Given the description of an element on the screen output the (x, y) to click on. 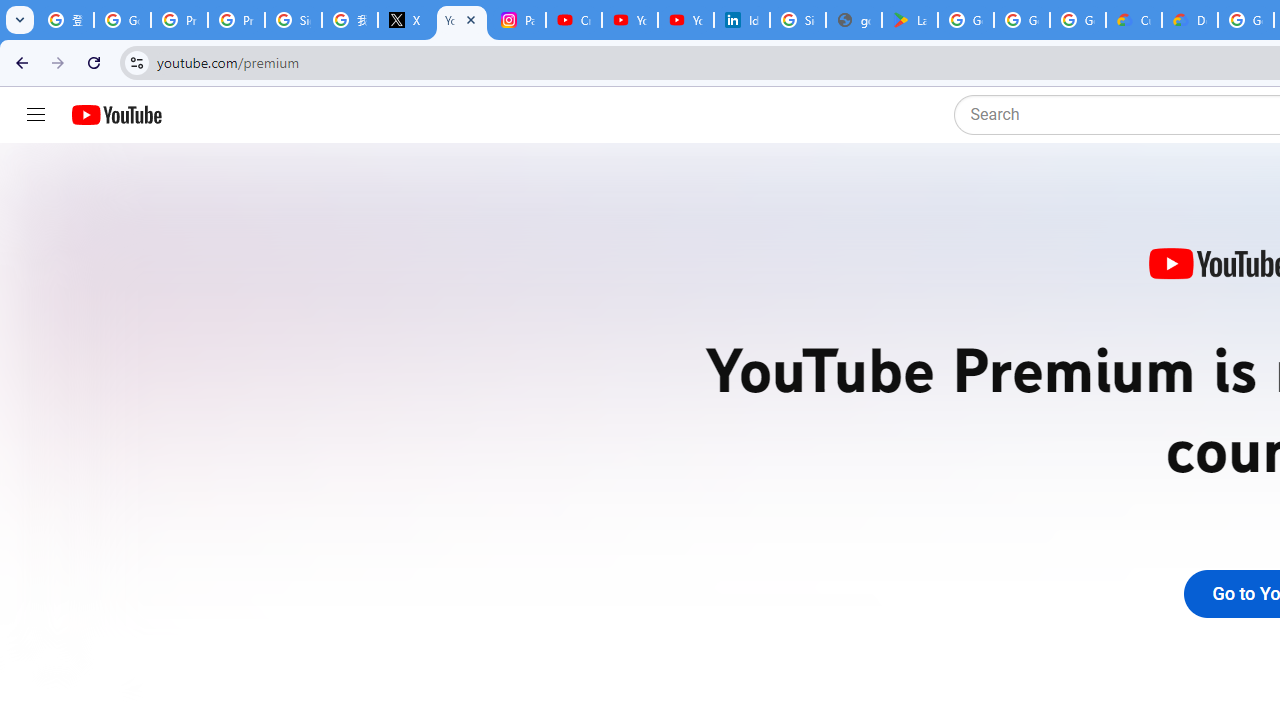
X (405, 20)
YouTube Home (116, 115)
Customer Care | Google Cloud (1133, 20)
YouTube Culture & Trends - YouTube Top 10, 2021 (685, 20)
Google Workspace - Specific Terms (1021, 20)
Sign in - Google Accounts (293, 20)
YouTube Premium - YouTube (461, 20)
